Given the description of an element on the screen output the (x, y) to click on. 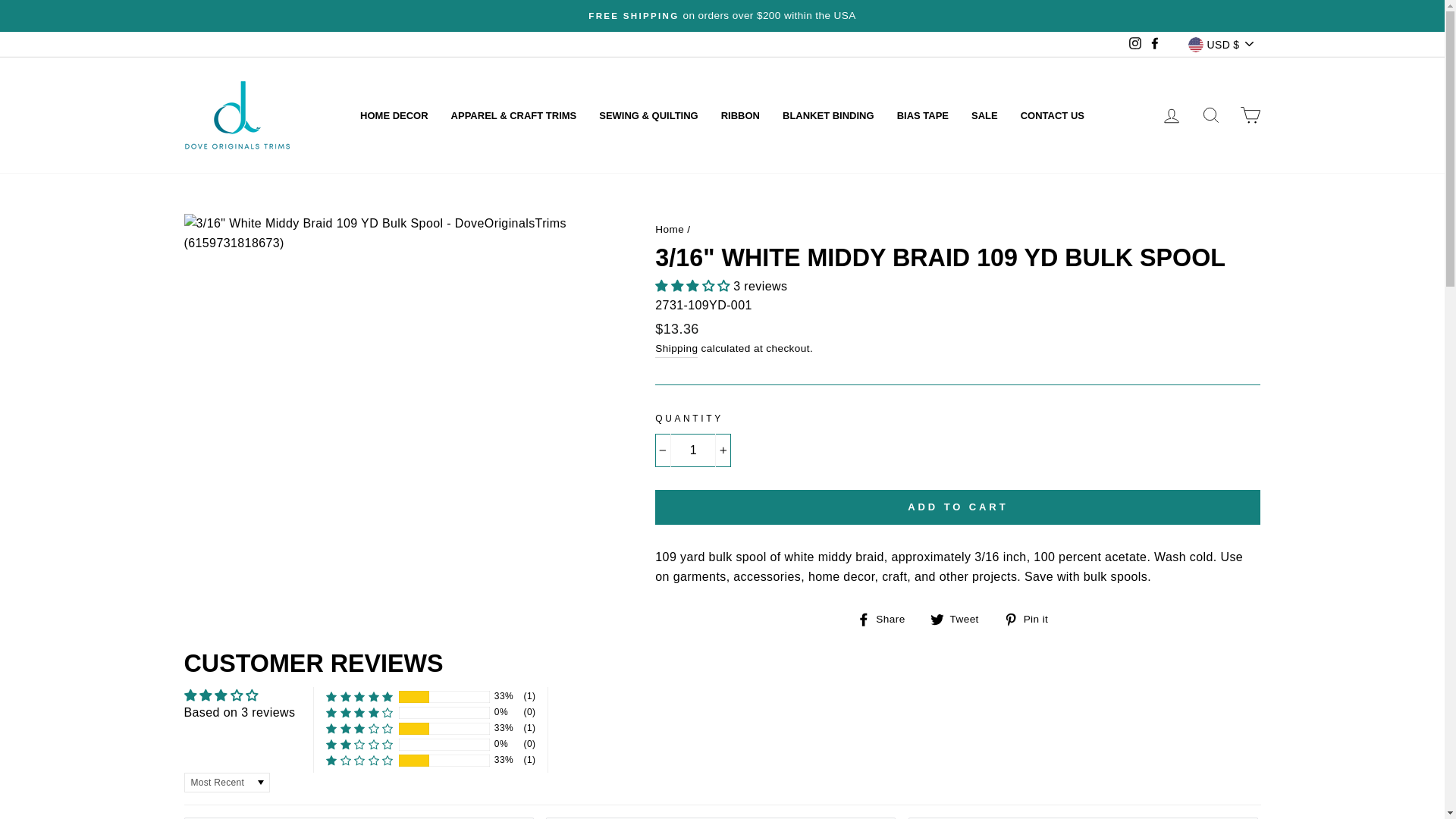
Pin on Pinterest (1031, 618)
1 (692, 450)
Tweet on Twitter (960, 618)
Share on Facebook (887, 618)
Back to the frontpage (669, 229)
